Given the description of an element on the screen output the (x, y) to click on. 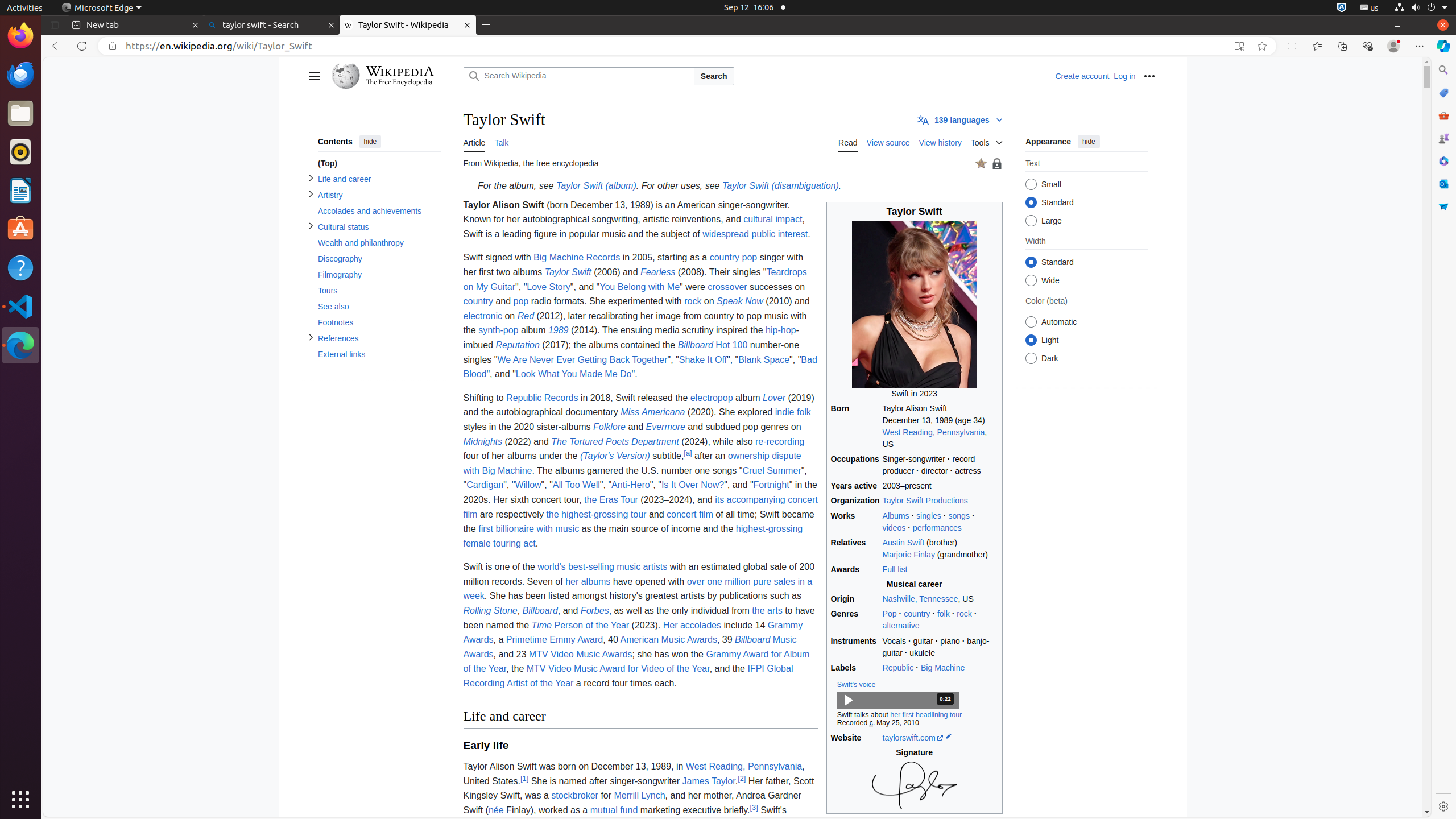
View source Element type: link (888, 141)
synth-pop Element type: link (498, 330)
electropop Element type: link (711, 397)
Wikipedia The Free Encyclopedia Element type: link (394, 75)
Swift's voice Element type: link (855, 684)
